Given the description of an element on the screen output the (x, y) to click on. 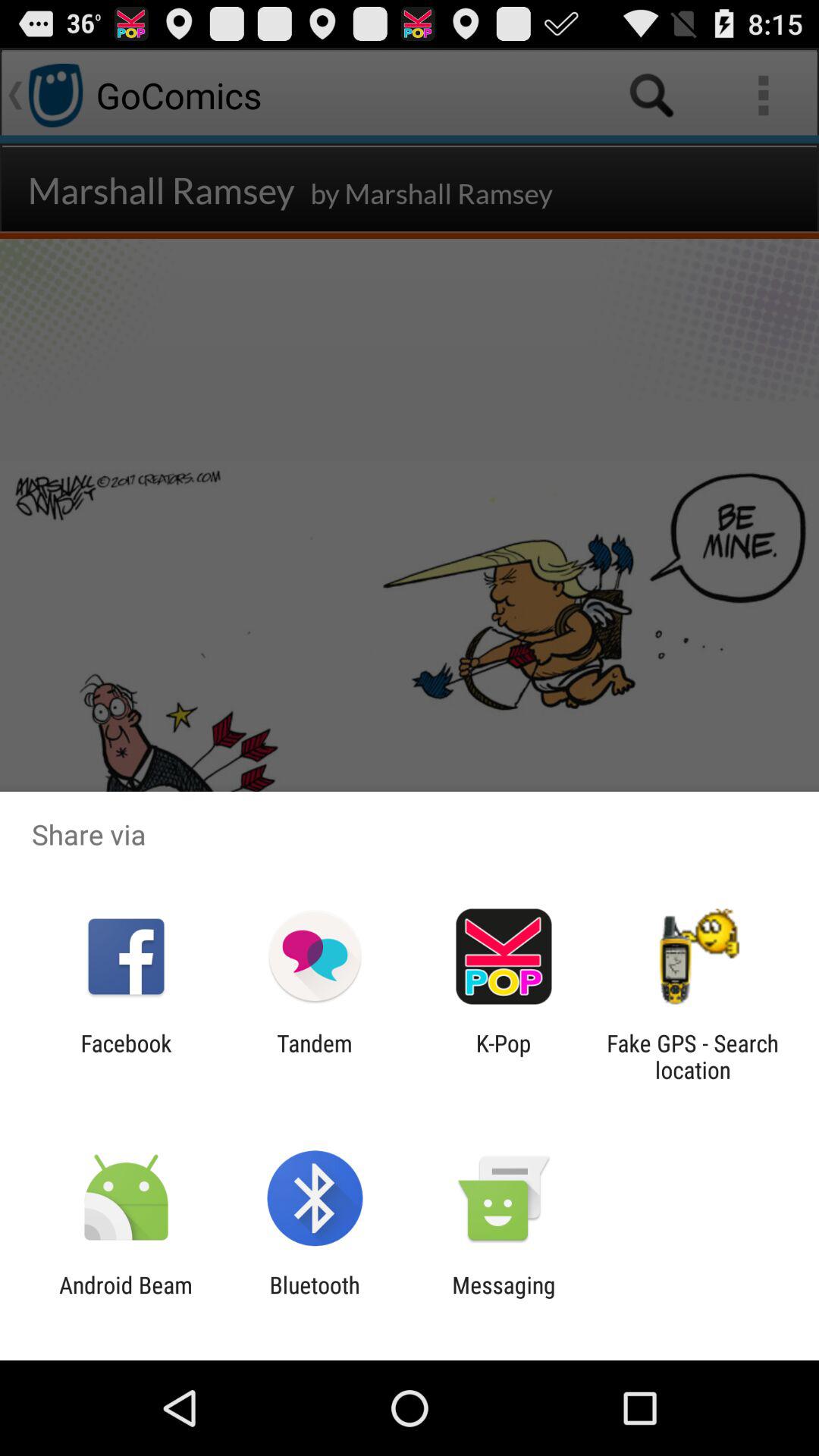
press app to the left of k-pop item (314, 1056)
